Given the description of an element on the screen output the (x, y) to click on. 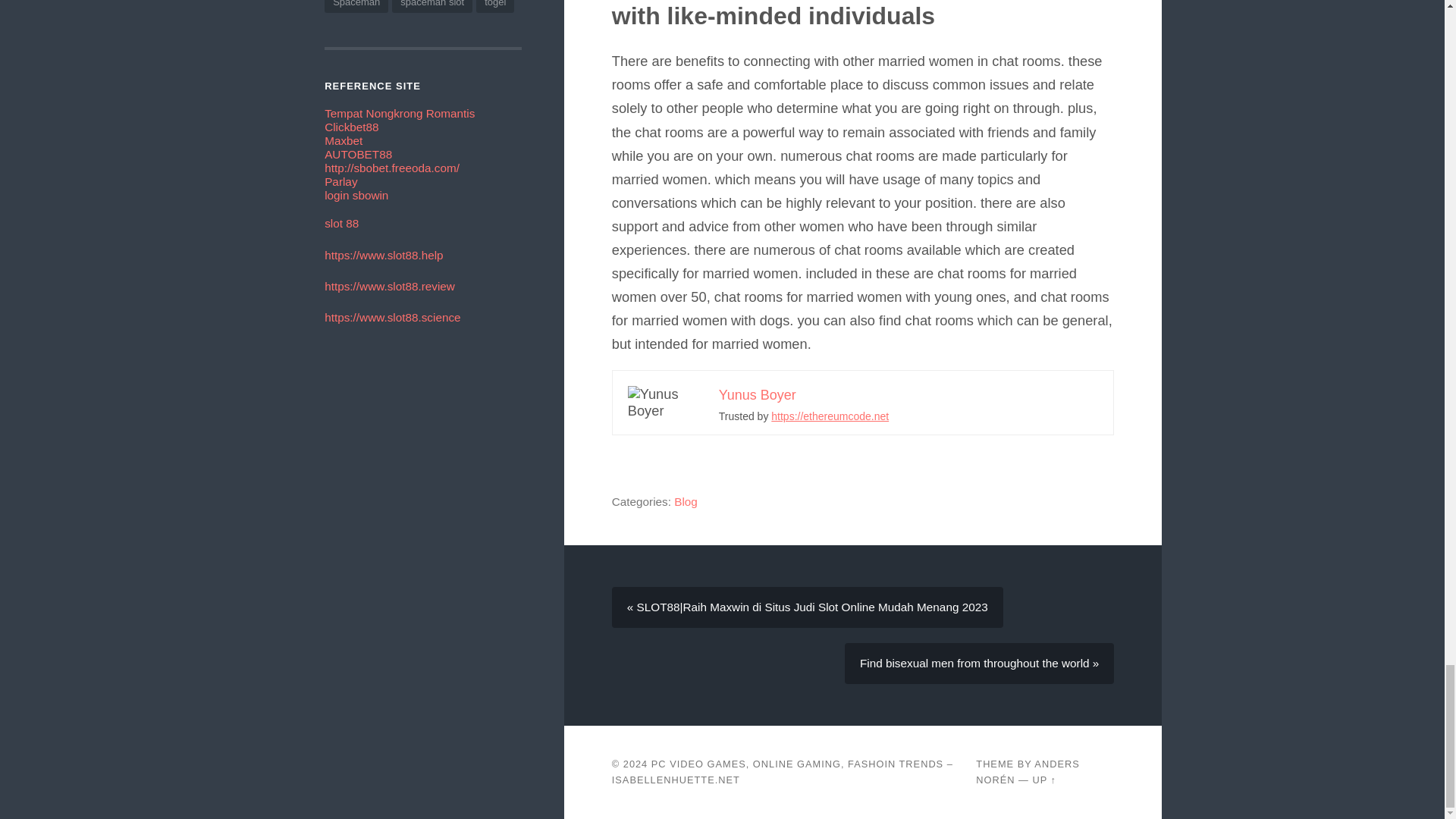
Parlay (340, 181)
Clickbet88 (351, 126)
AUTOBET88 (357, 154)
Maxbet (343, 140)
login sbowin (356, 195)
Sbobet (392, 167)
